Given the description of an element on the screen output the (x, y) to click on. 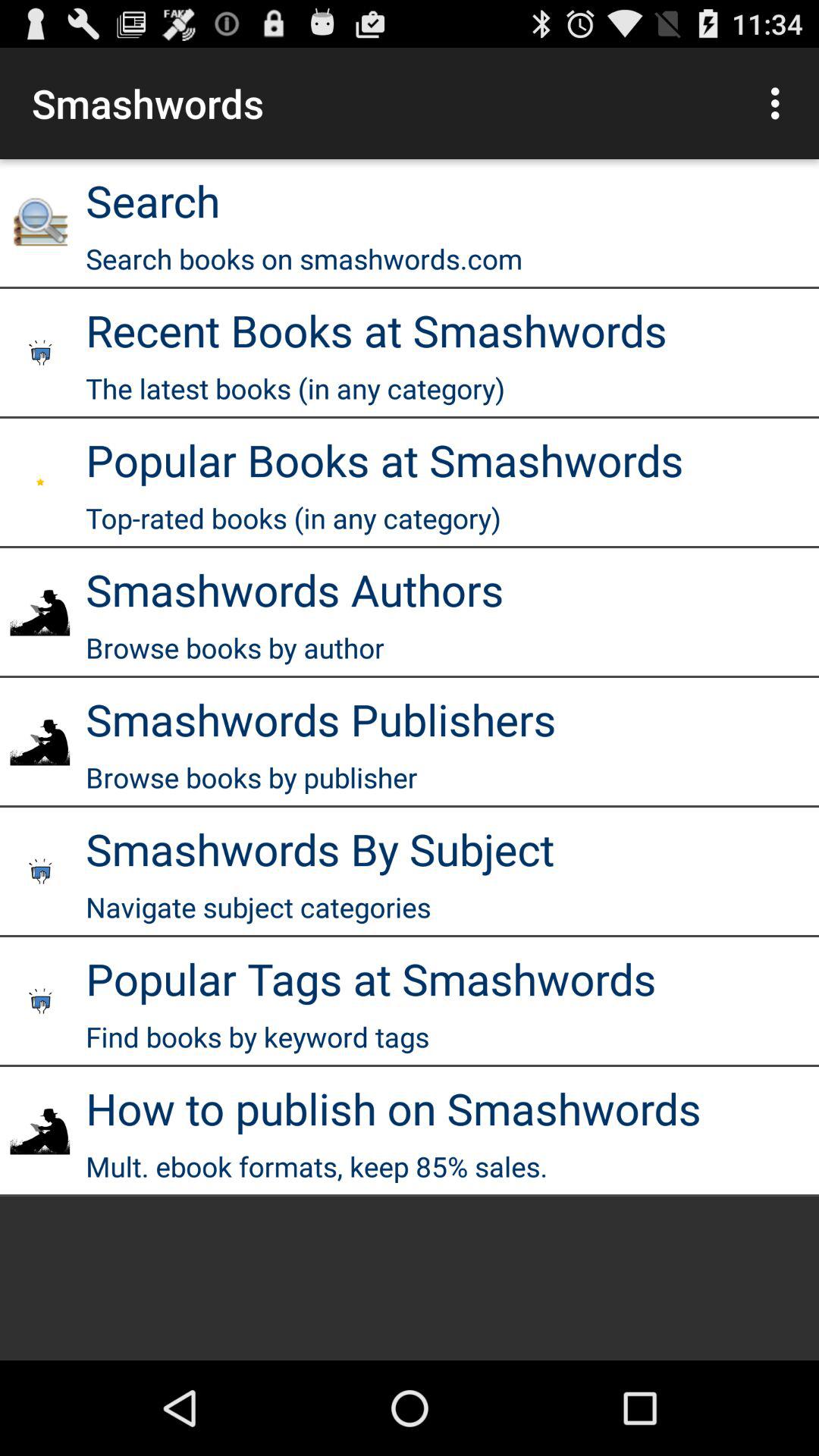
launch the smashwords authors app (294, 589)
